Given the description of an element on the screen output the (x, y) to click on. 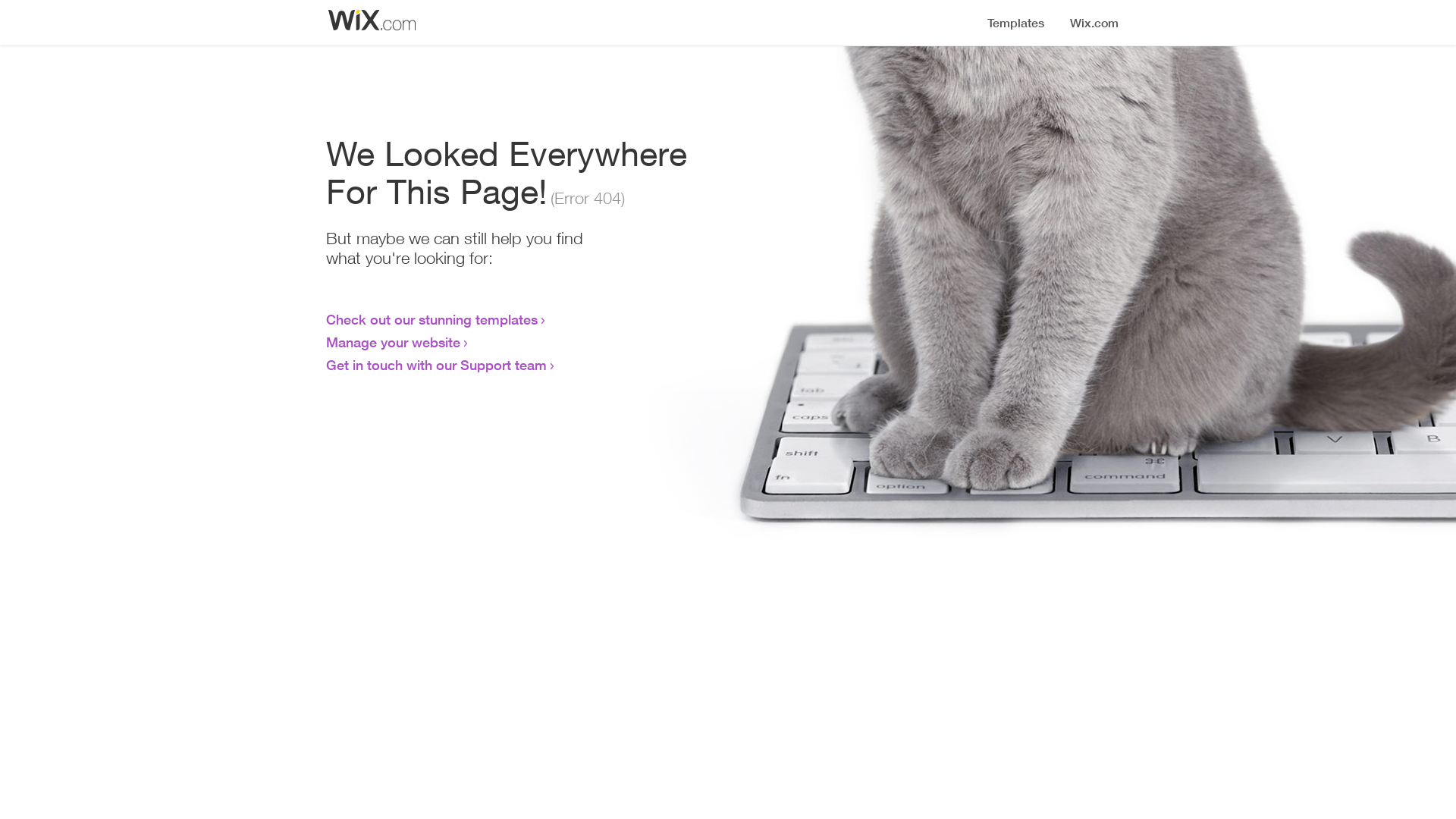
Get in touch with our Support team Element type: text (436, 364)
Check out our stunning templates Element type: text (431, 318)
Manage your website Element type: text (393, 341)
